Given the description of an element on the screen output the (x, y) to click on. 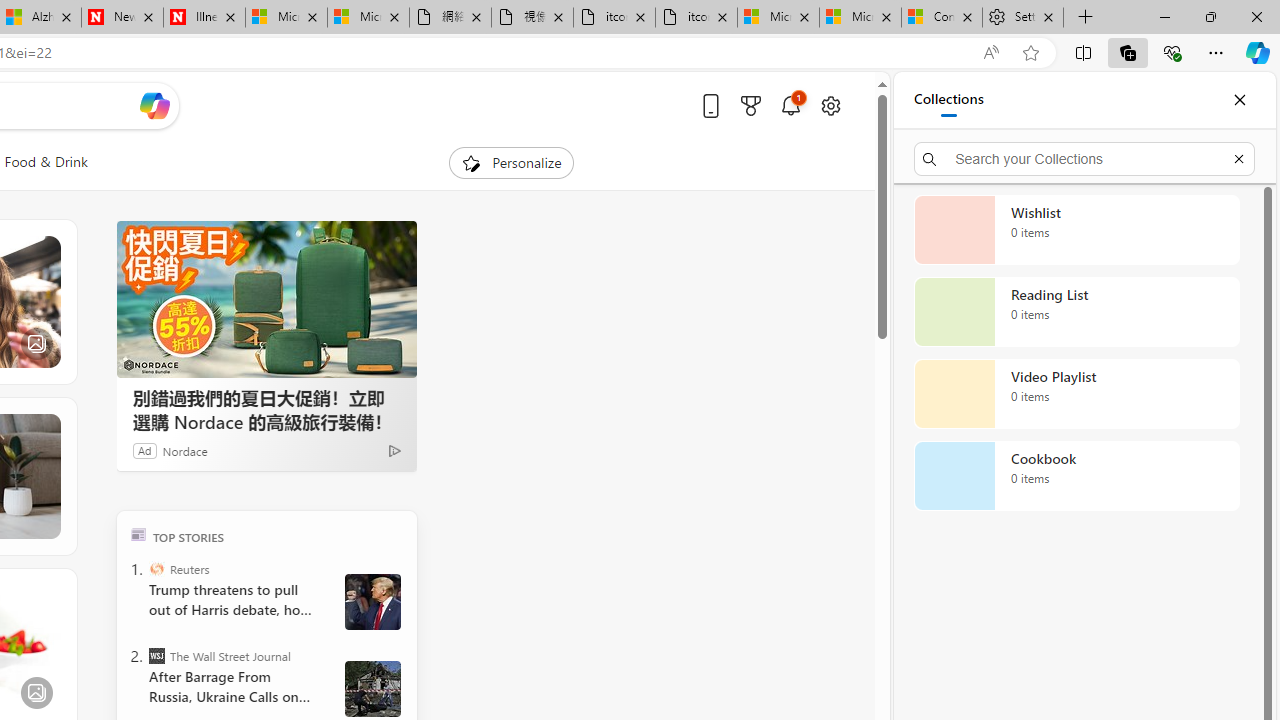
Search your Collections (1084, 158)
Personalize (511, 162)
Newsweek - News, Analysis, Politics, Business, Technology (121, 17)
